Given the description of an element on the screen output the (x, y) to click on. 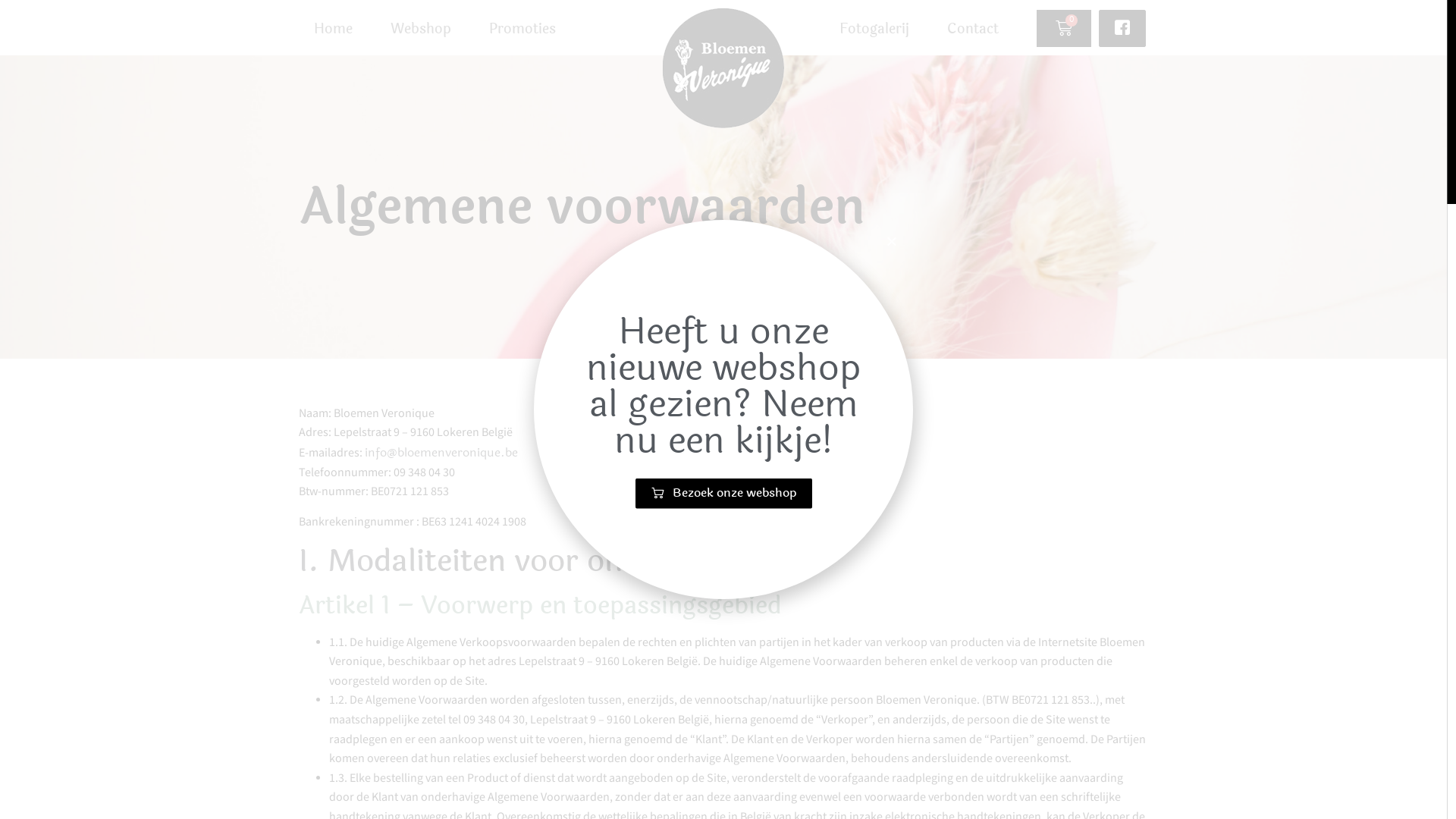
Home Element type: text (332, 27)
Bezoek onze webshop Element type: text (723, 492)
info@bloemenveronique.be Element type: text (440, 451)
Contact Element type: text (972, 27)
Webshop Element type: text (420, 27)
0 Element type: text (1063, 28)
Promoties Element type: text (522, 27)
Fotogalerij Element type: text (874, 27)
